Given the description of an element on the screen output the (x, y) to click on. 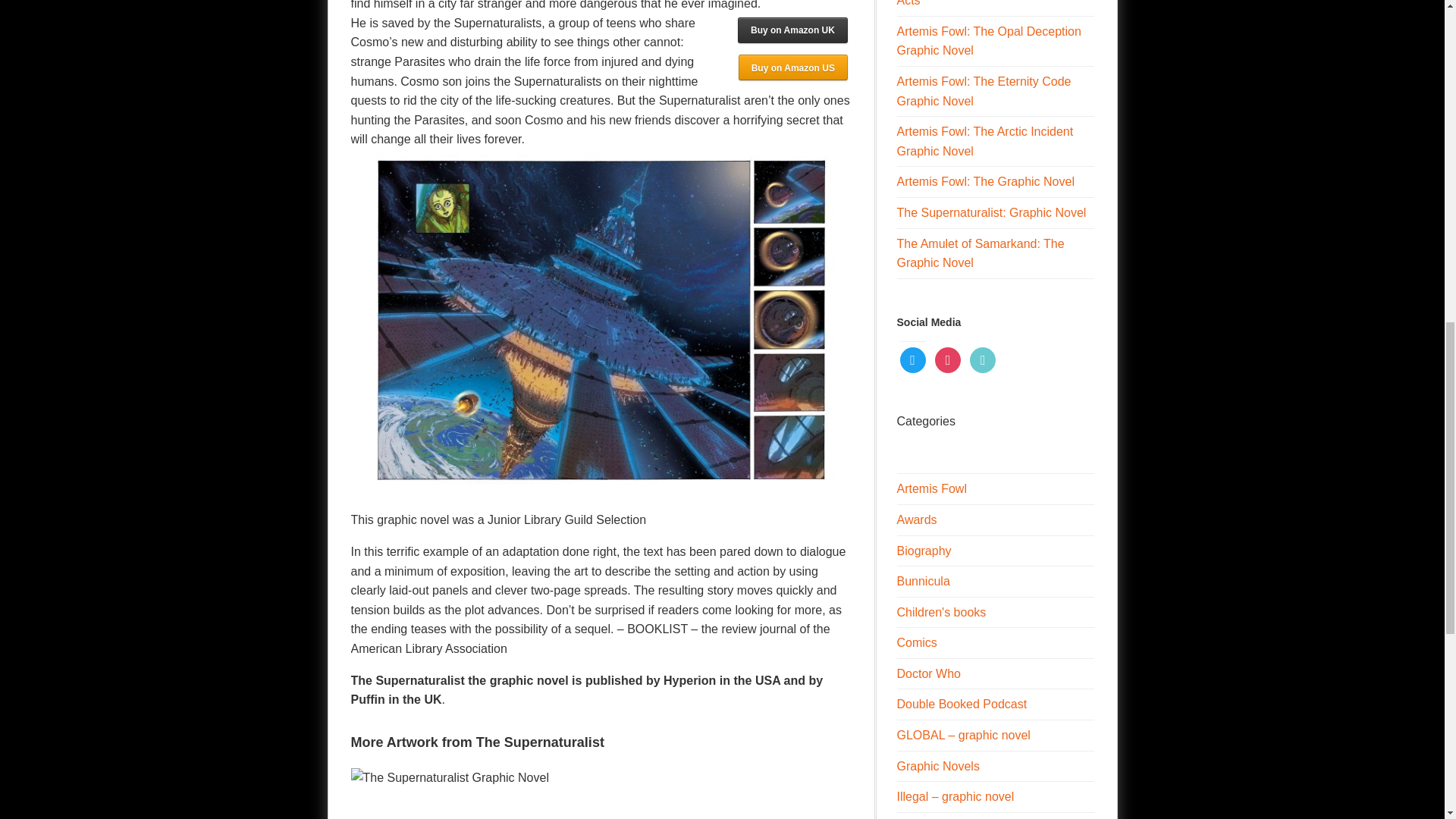
Doctor Who (927, 673)
tiktok (982, 358)
Artemis Fowl (931, 488)
The Amulet of Samarkand: The Graphic Novel (980, 253)
Instagram (947, 358)
Twitter (911, 358)
Double Booked Podcast (961, 703)
Awards (916, 519)
Artemis Fowl: The Opal Deception Graphic Novel (988, 41)
Graphic Novels (937, 766)
